Given the description of an element on the screen output the (x, y) to click on. 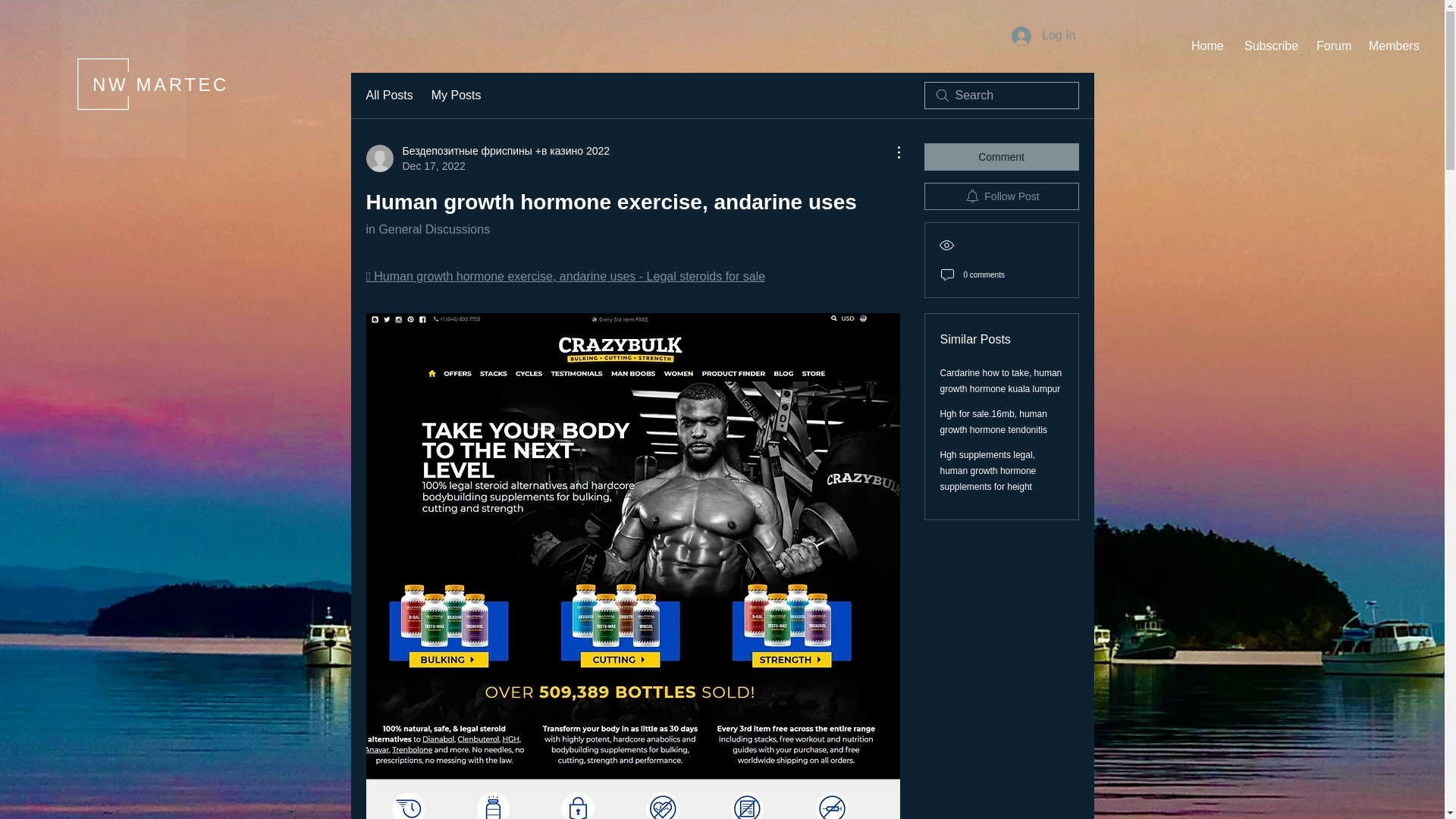
Comment (1000, 156)
Members (1391, 46)
Follow Post (1000, 195)
Forum (1330, 46)
Home (1206, 46)
Subscribe (1268, 46)
Hgh for sale.16mb, human growth hormone tendonitis (993, 421)
in General Discussions (427, 228)
Log In (1043, 35)
All Posts (388, 95)
